Given the description of an element on the screen output the (x, y) to click on. 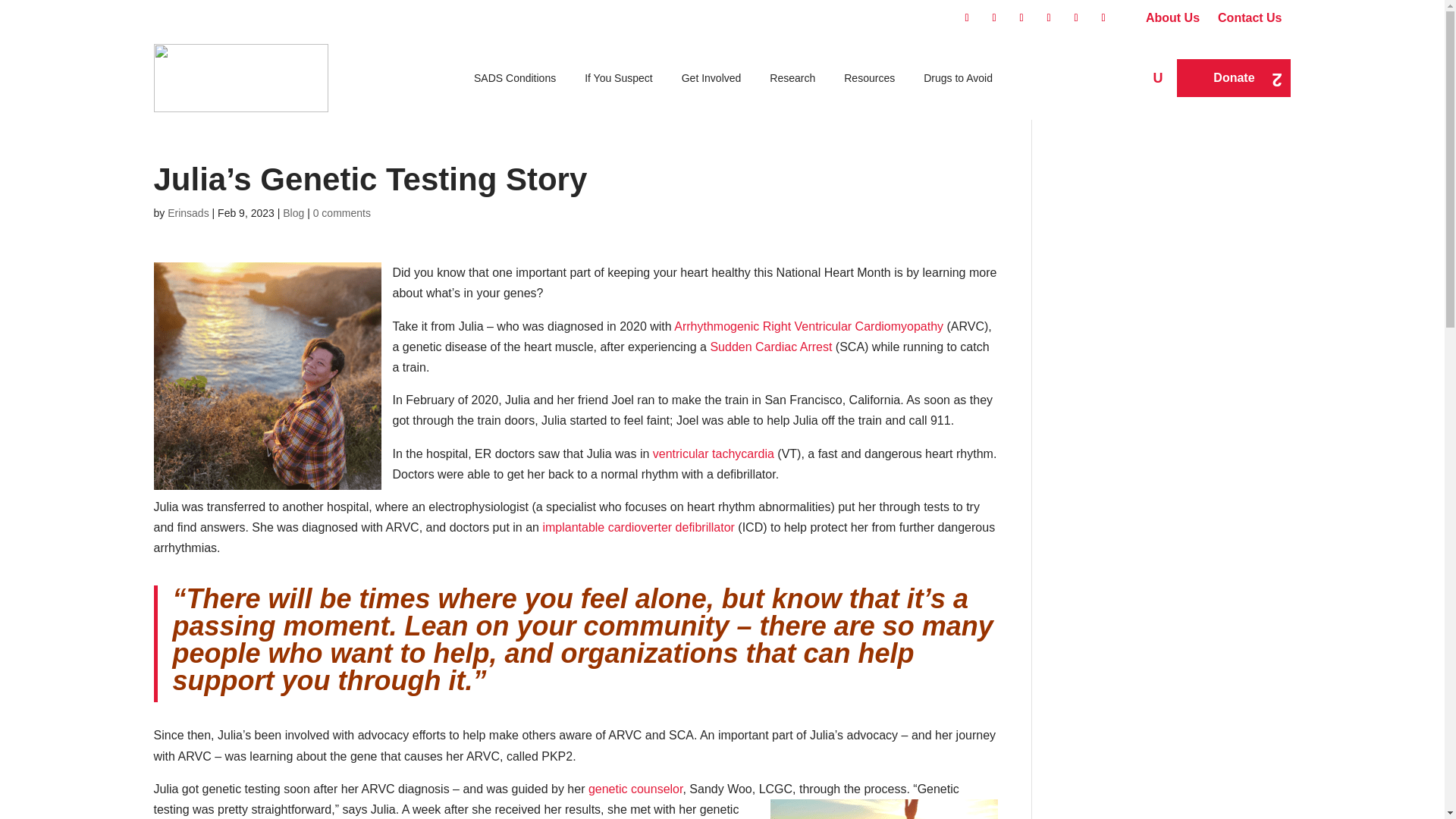
SADS Conditions (514, 77)
If You Suspect (618, 77)
Follow on LinkedIn (1048, 17)
Posts by Erinsads (187, 213)
Follow on Facebook (966, 17)
Follow on Instagram (1021, 17)
Follow on Twitter (994, 17)
Follow on TikTok (1103, 17)
Follow on Youtube (1075, 17)
Contact Us (1249, 17)
